Given the description of an element on the screen output the (x, y) to click on. 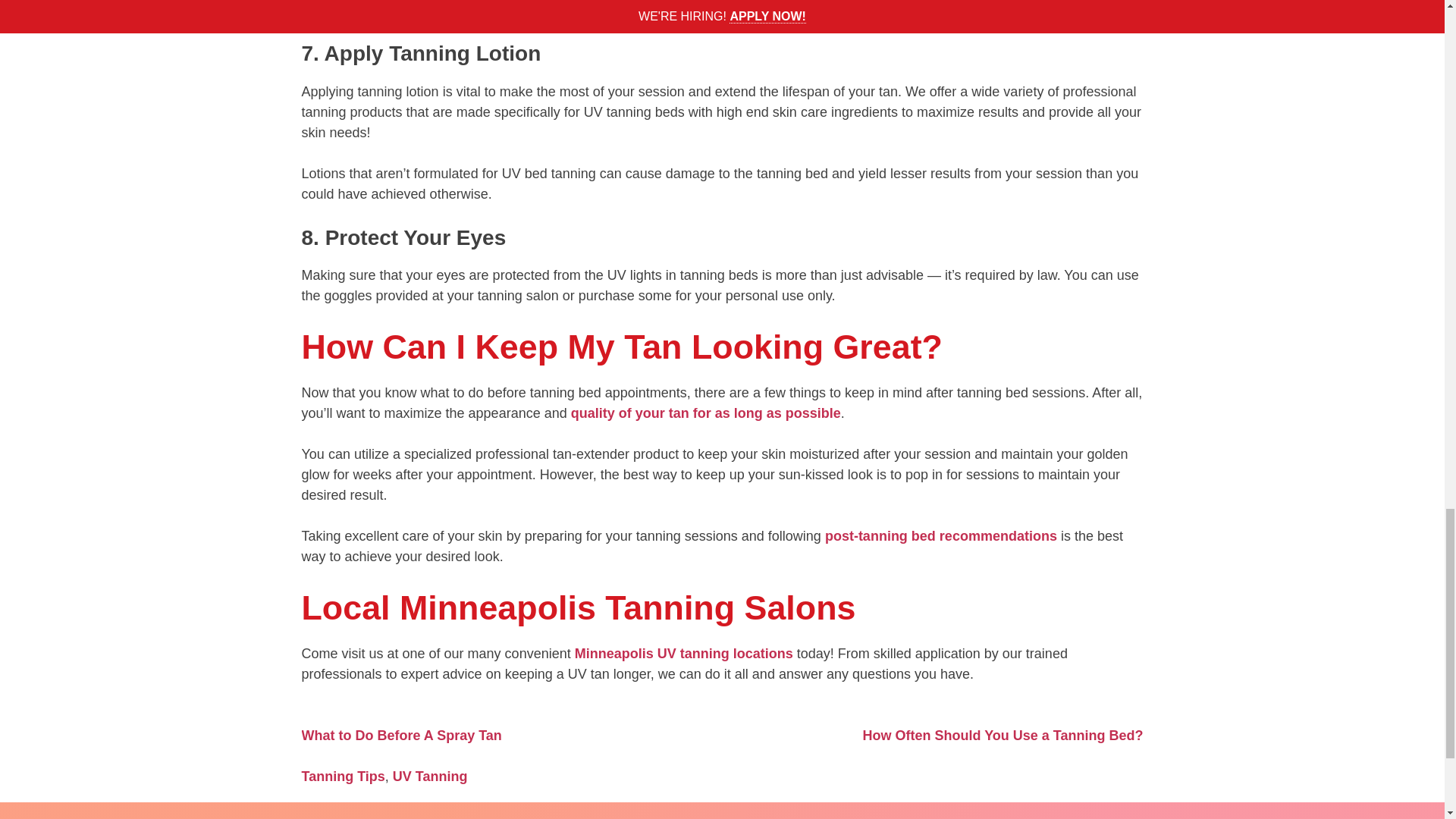
Tanning Tips (343, 776)
quality of your tan for as long as possible (705, 412)
How Often Should You Use a Tanning Bed? (1001, 735)
post-tanning bed recommendations (941, 535)
UV Tanning (430, 776)
What to Do Before A Spray Tan (401, 735)
Minneapolis UV tanning locations (684, 653)
